Given the description of an element on the screen output the (x, y) to click on. 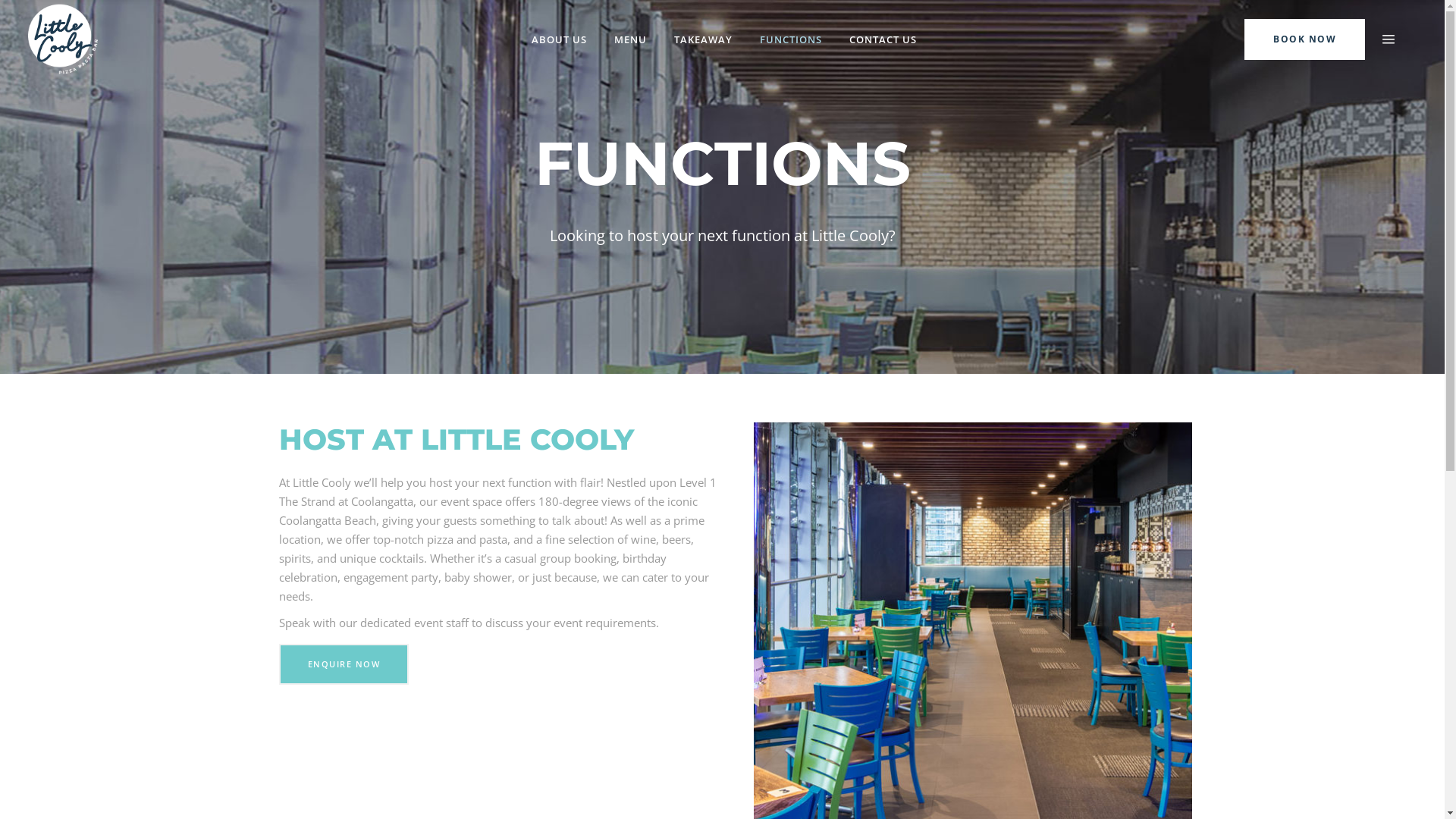
MENU Element type: text (630, 39)
FUNCTIONS Element type: text (790, 39)
BOOK NOW Element type: text (1304, 38)
CONTACT US Element type: text (882, 39)
ABOUT US Element type: text (558, 39)
TAKEAWAY Element type: text (702, 39)
ENQUIRE NOW Element type: text (344, 663)
